Given the description of an element on the screen output the (x, y) to click on. 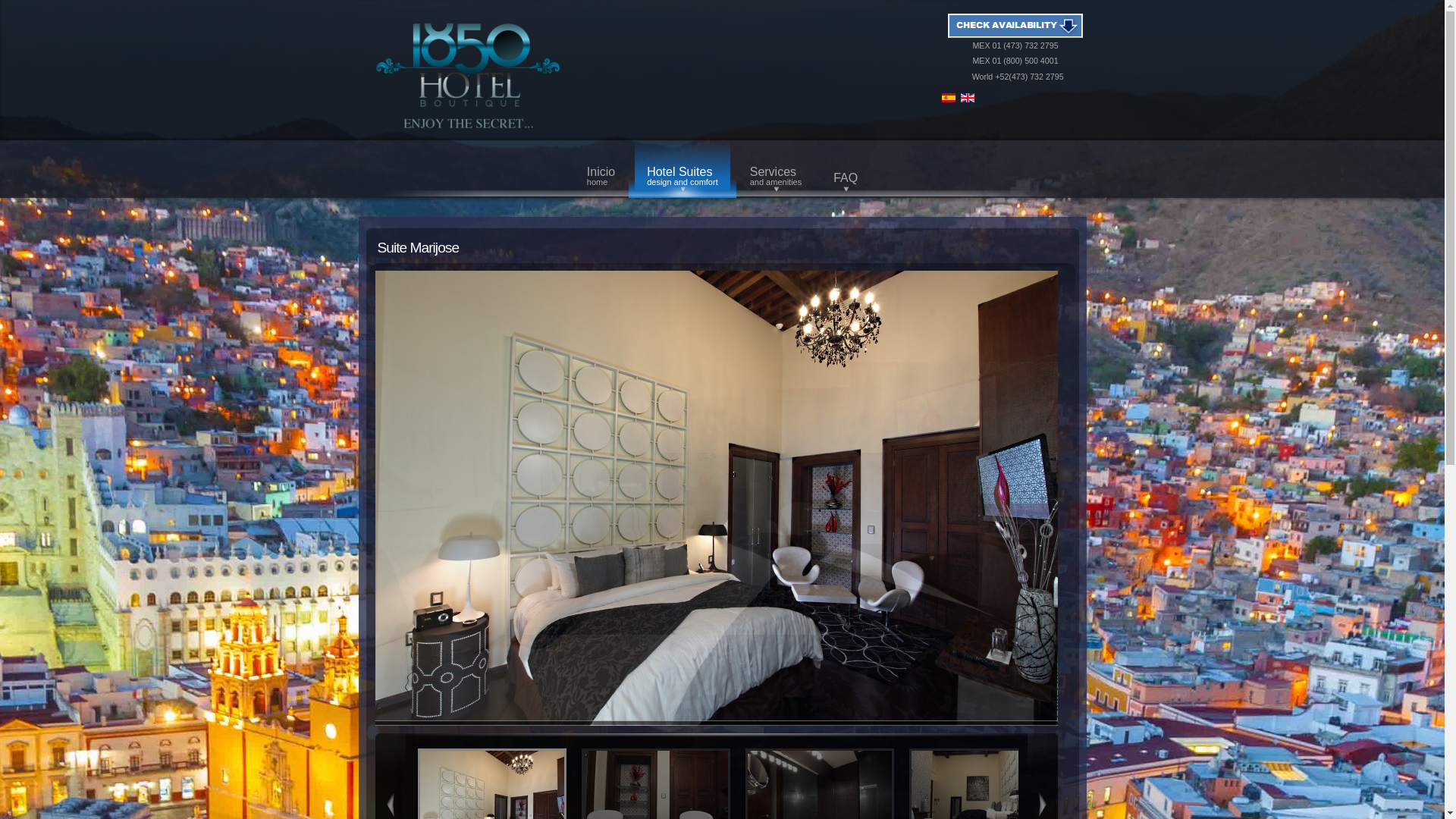
Inicio
home Element type: text (600, 168)
